Given the description of an element on the screen output the (x, y) to click on. 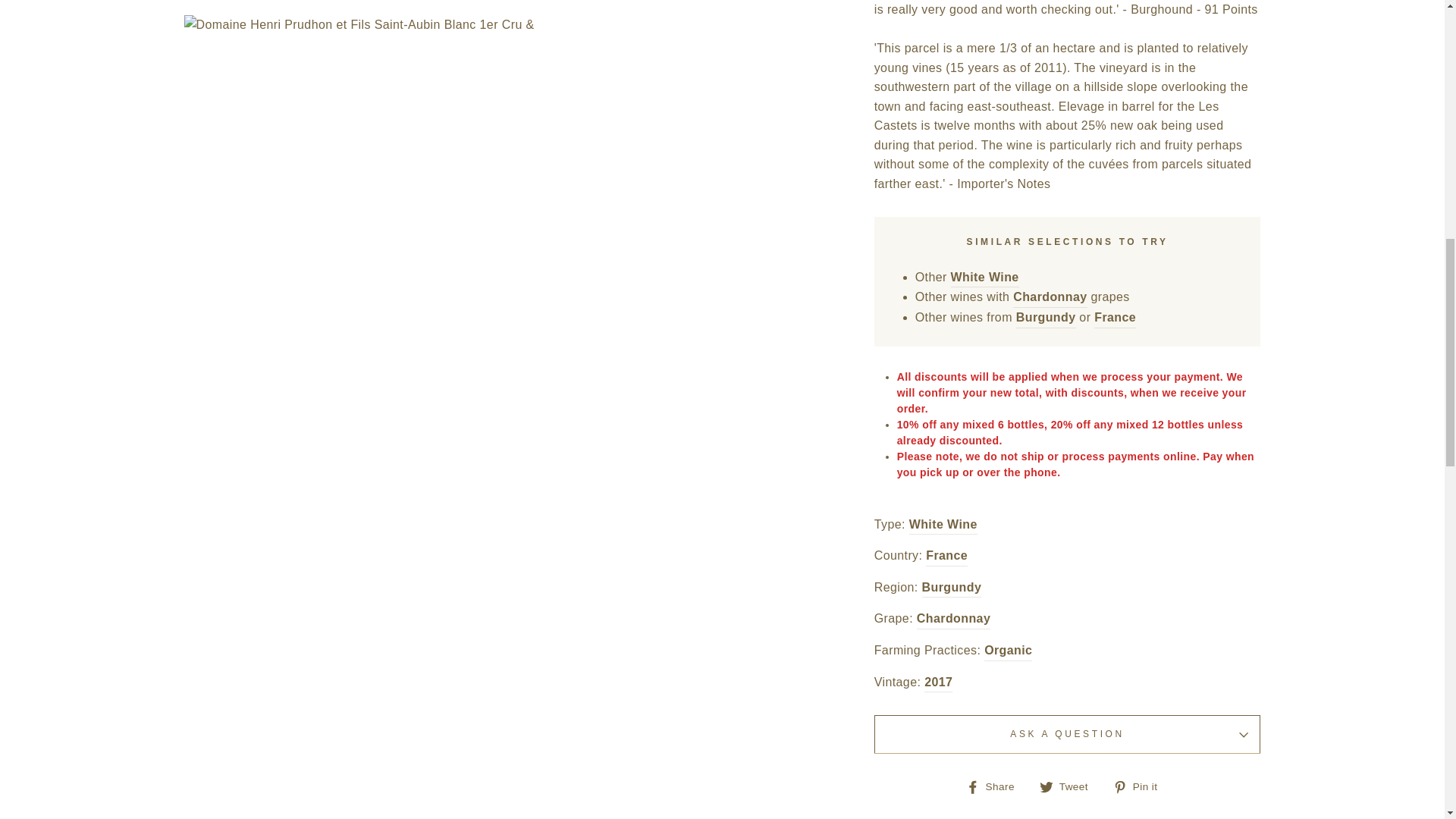
Pin on Pinterest (1141, 786)
Tweet on Twitter (1069, 786)
Share on Facebook (996, 786)
